Given the description of an element on the screen output the (x, y) to click on. 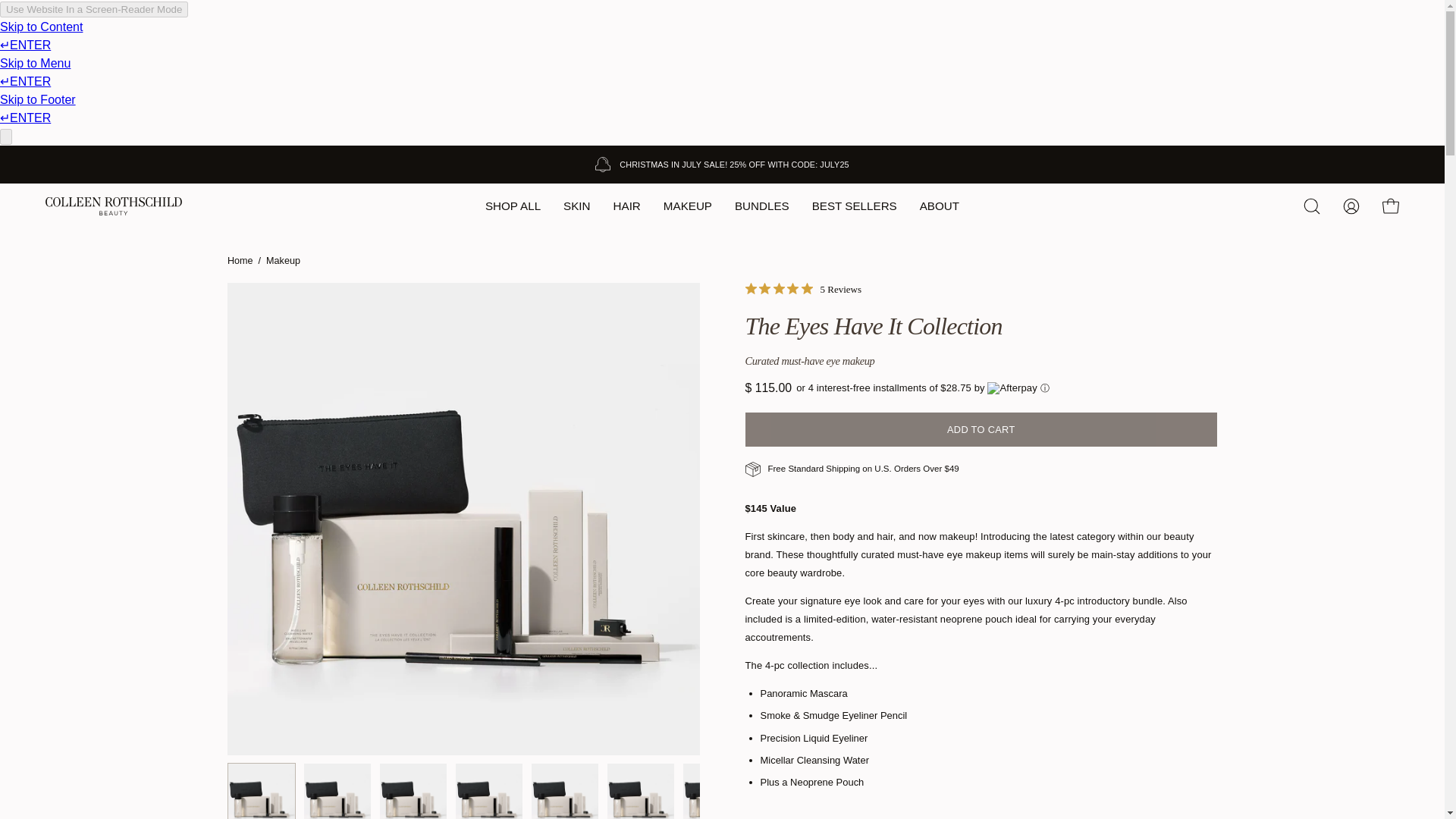
5 Reviews (802, 289)
Go back to Home page (240, 260)
Open search bar (1311, 205)
